Given the description of an element on the screen output the (x, y) to click on. 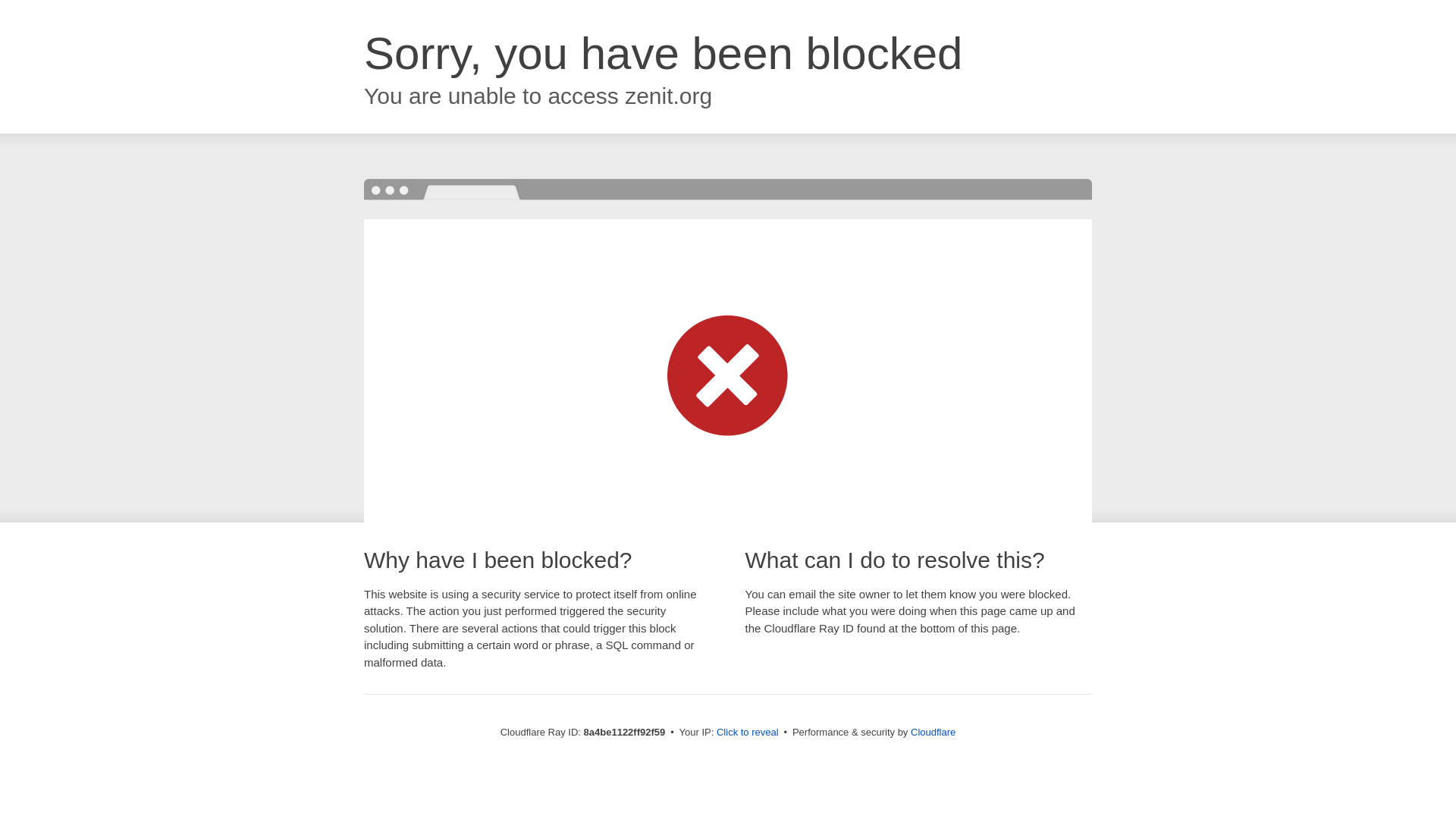
Cloudflare (933, 731)
Click to reveal (747, 732)
